Given the description of an element on the screen output the (x, y) to click on. 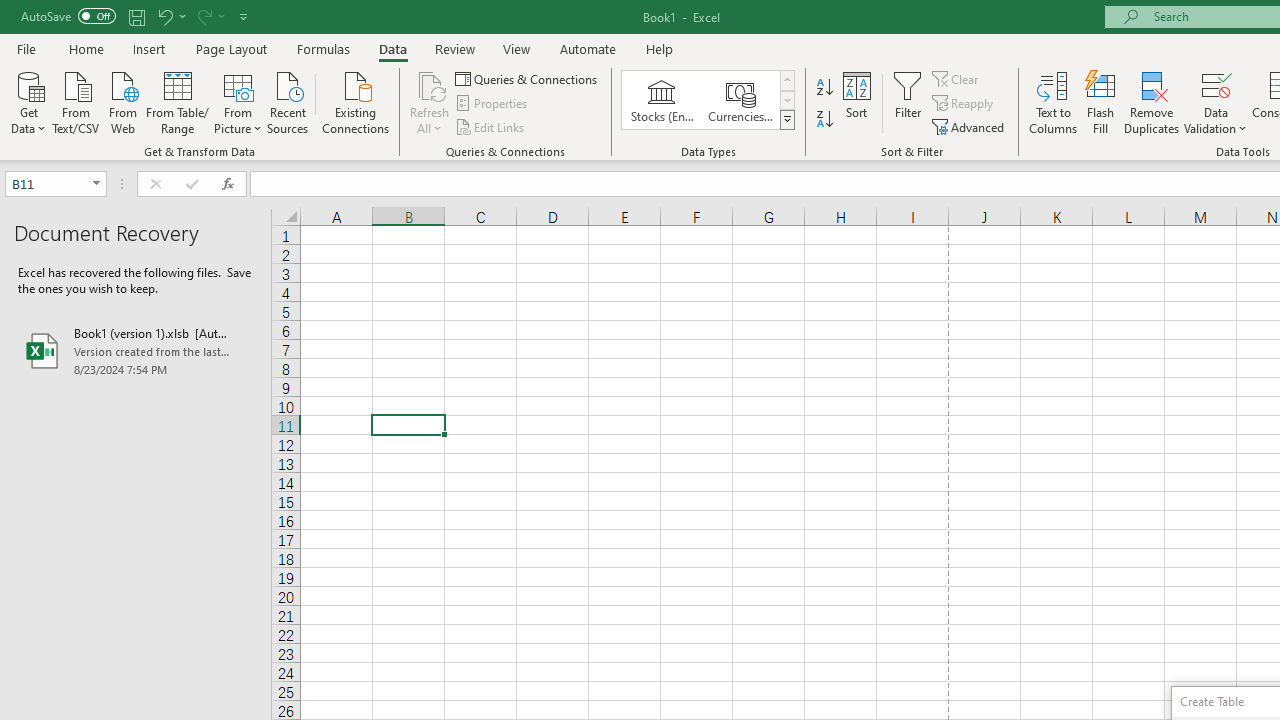
Customize Quick Access Toolbar (244, 15)
Help (660, 48)
Queries & Connections (527, 78)
From Web (122, 101)
Redo (209, 15)
Redo (203, 15)
Quick Access Toolbar (136, 16)
System (10, 11)
AutomationID: ConvertToLinkedEntity (708, 99)
System (10, 11)
Edit Links (491, 126)
From Table/Range (177, 101)
Data Validation... (1215, 84)
Text to Columns... (1053, 102)
Properties (492, 103)
